Given the description of an element on the screen output the (x, y) to click on. 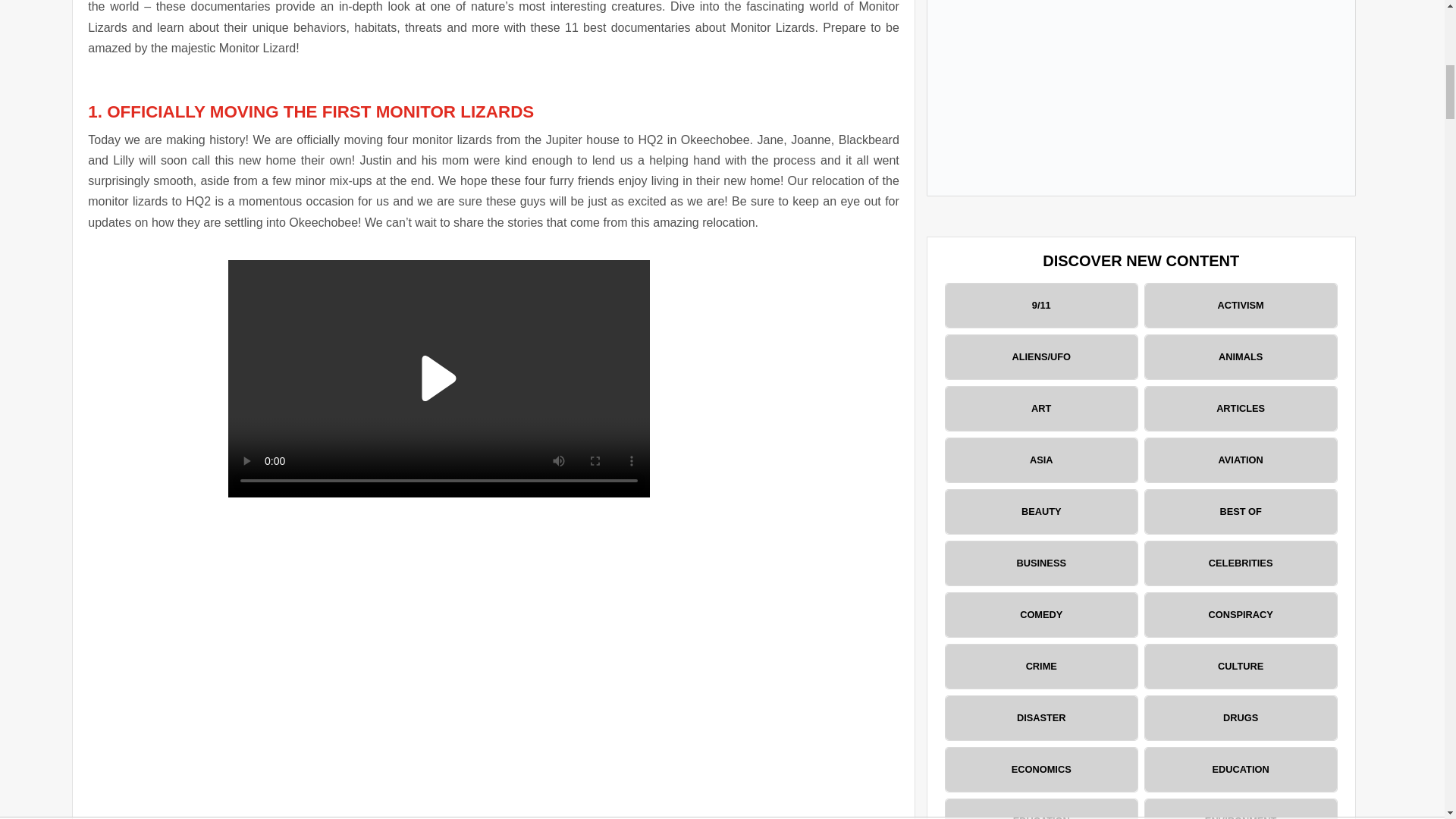
BEST OF (1240, 511)
BUSINESS (1040, 563)
CONSPIRACY (1240, 614)
ACTIVISM (1240, 305)
BEAUTY (1040, 511)
CELEBRITIES (1240, 563)
CULTURE (1240, 666)
CRIME (1040, 666)
